Given the description of an element on the screen output the (x, y) to click on. 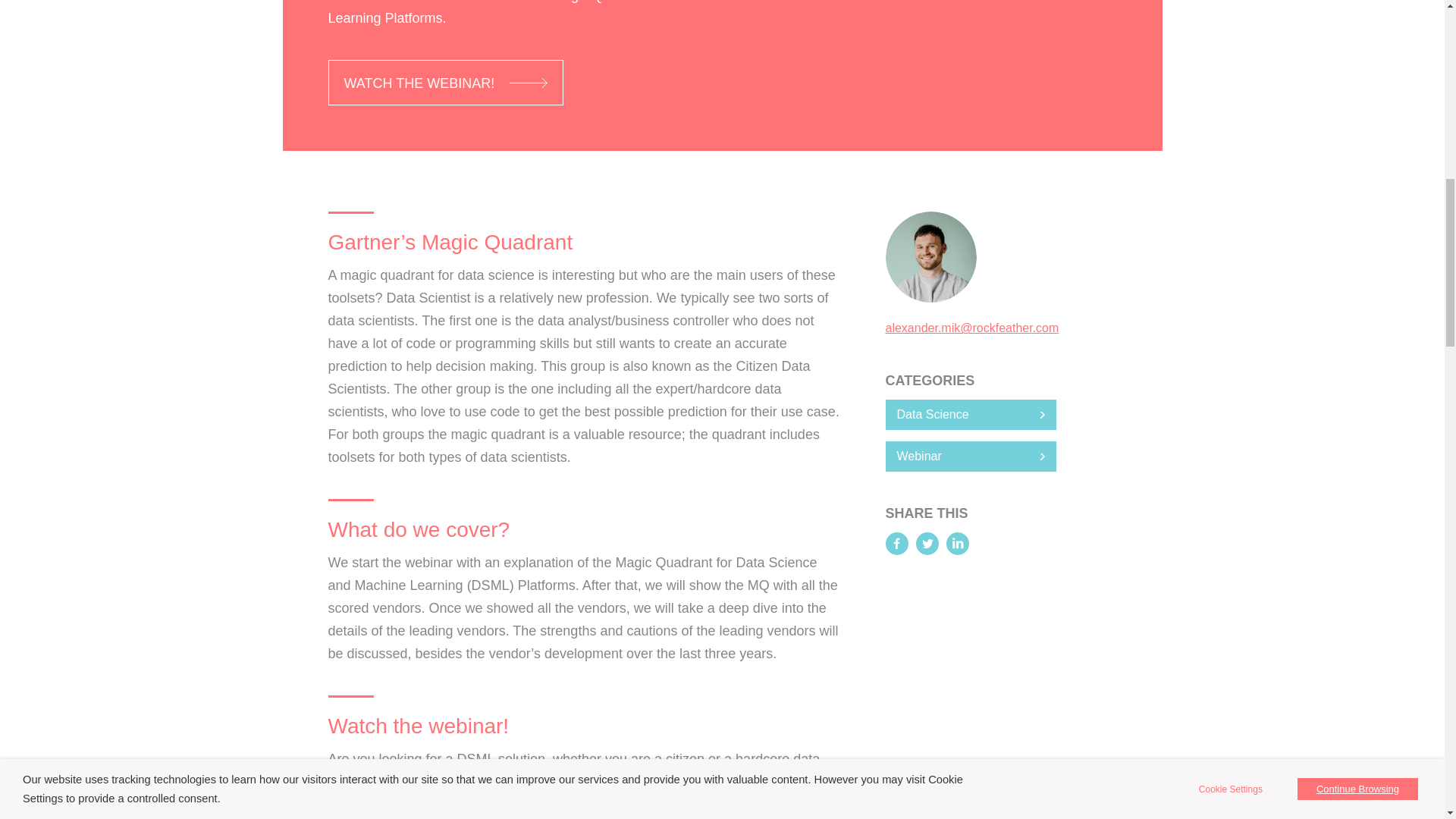
Webinar (971, 456)
Facebook (896, 543)
Twitter (927, 543)
WATCH THE WEBINAR! (445, 82)
Data Science (971, 414)
